Given the description of an element on the screen output the (x, y) to click on. 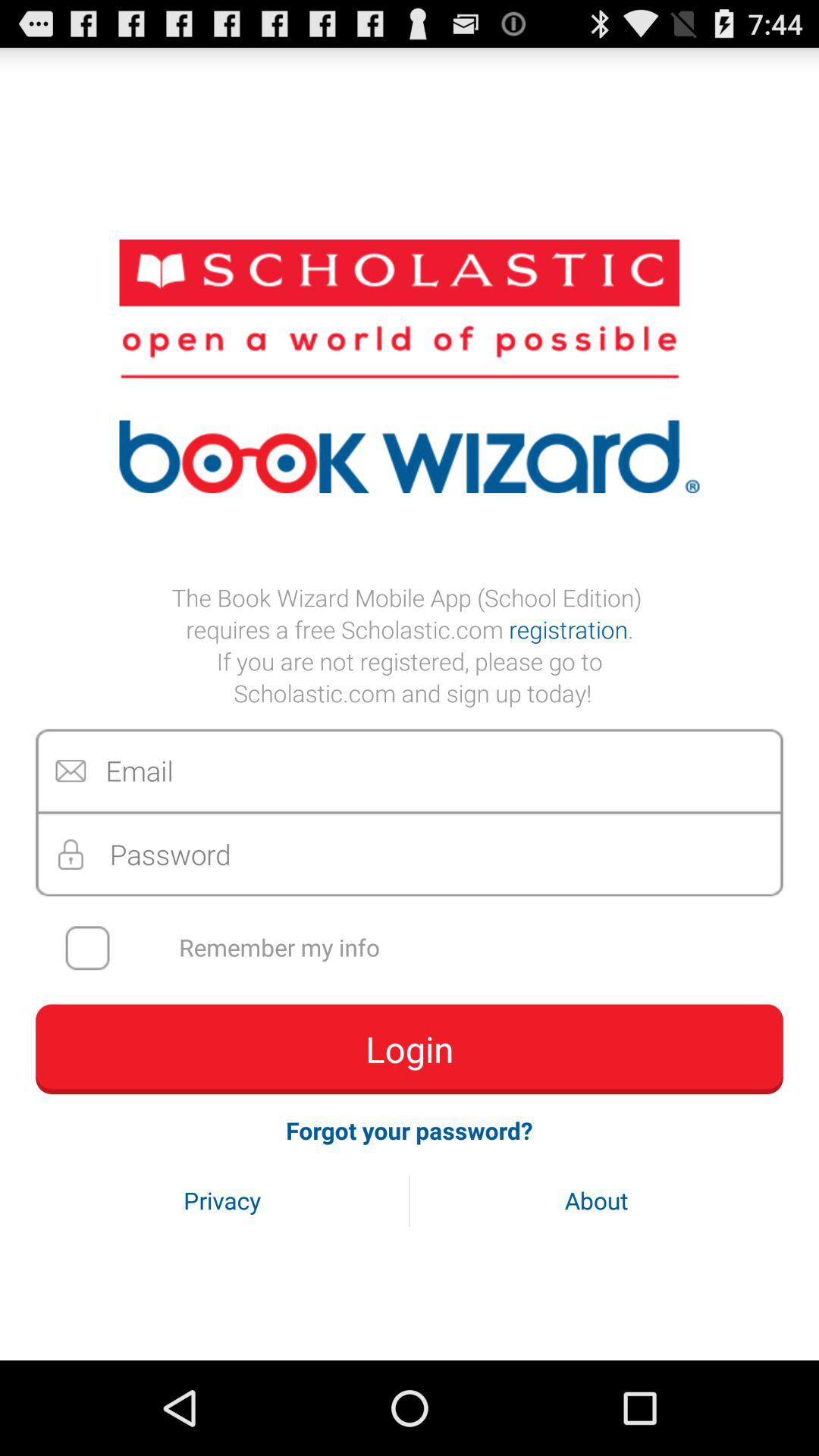
tap the about at the bottom right corner (596, 1200)
